Given the description of an element on the screen output the (x, y) to click on. 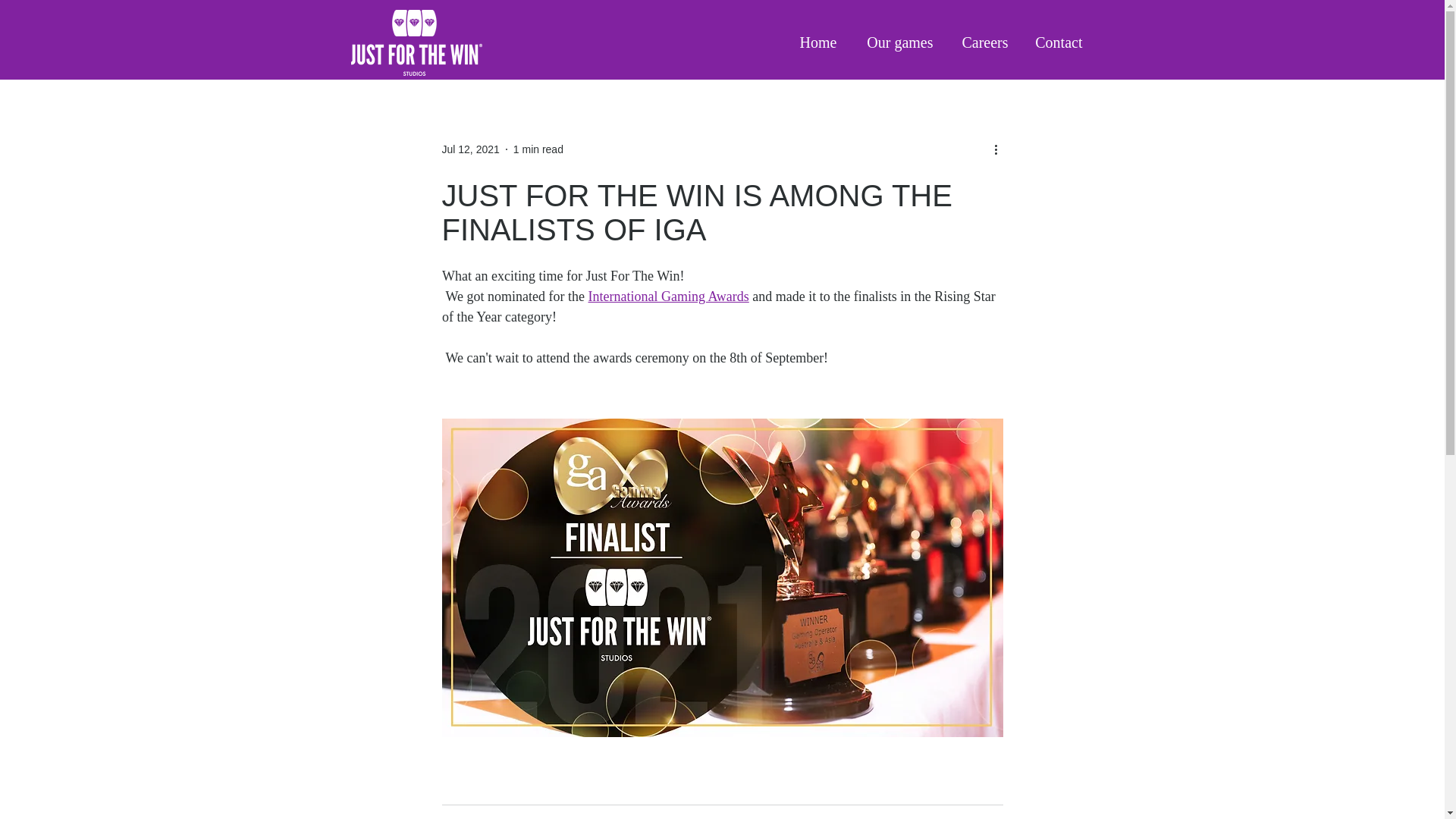
International Gaming Awards (668, 296)
Home (817, 42)
1 min read (538, 148)
Contact (1056, 42)
Careers (982, 42)
Our games (895, 42)
Jul 12, 2021 (470, 148)
